Given the description of an element on the screen output the (x, y) to click on. 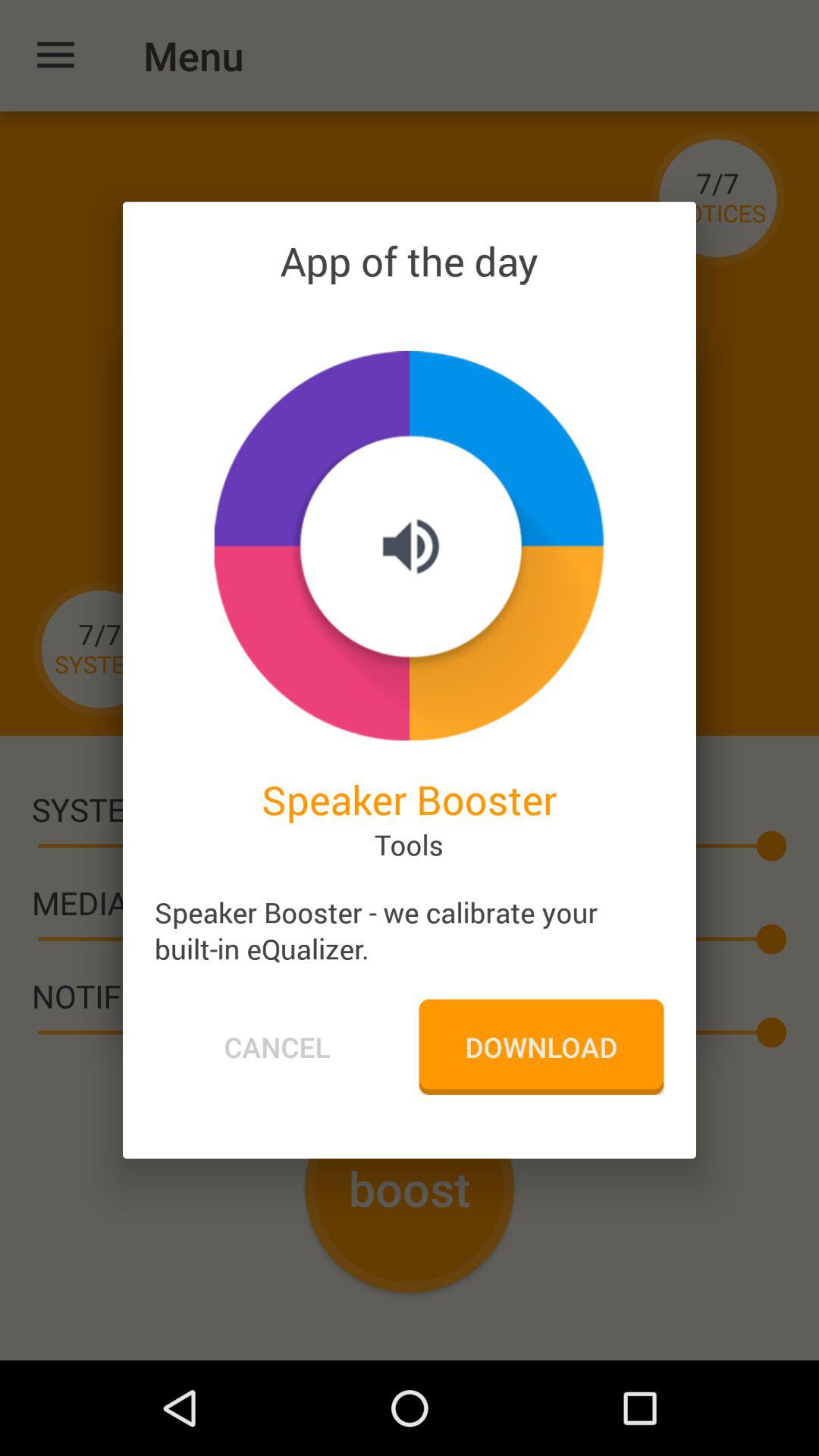
choose icon to the left of download (276, 1046)
